Given the description of an element on the screen output the (x, y) to click on. 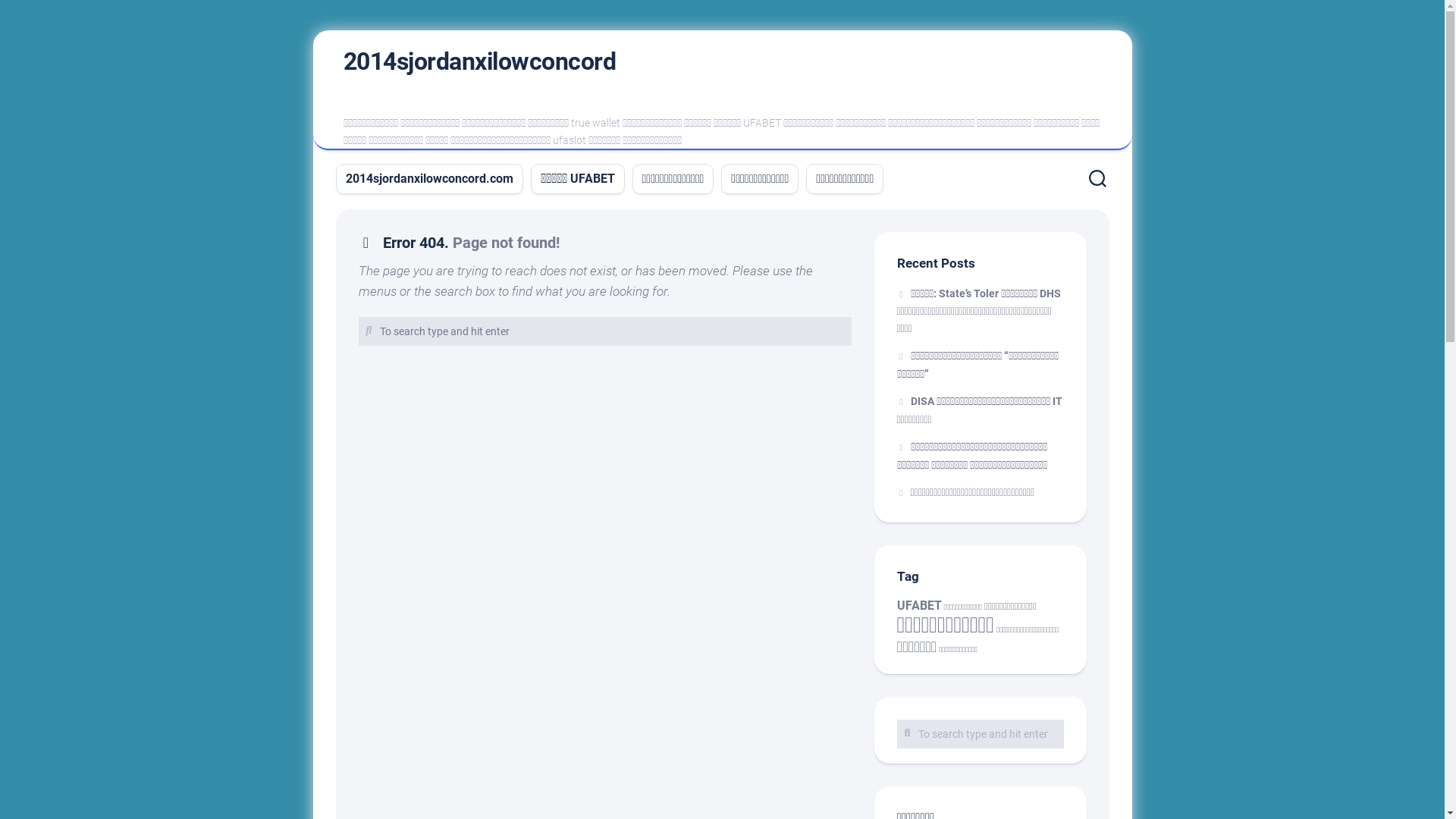
2014sjordanxilowconcord.com Element type: text (429, 178)
UFABET Element type: text (918, 605)
2014sjordanxilowconcord Element type: text (478, 61)
